Given the description of an element on the screen output the (x, y) to click on. 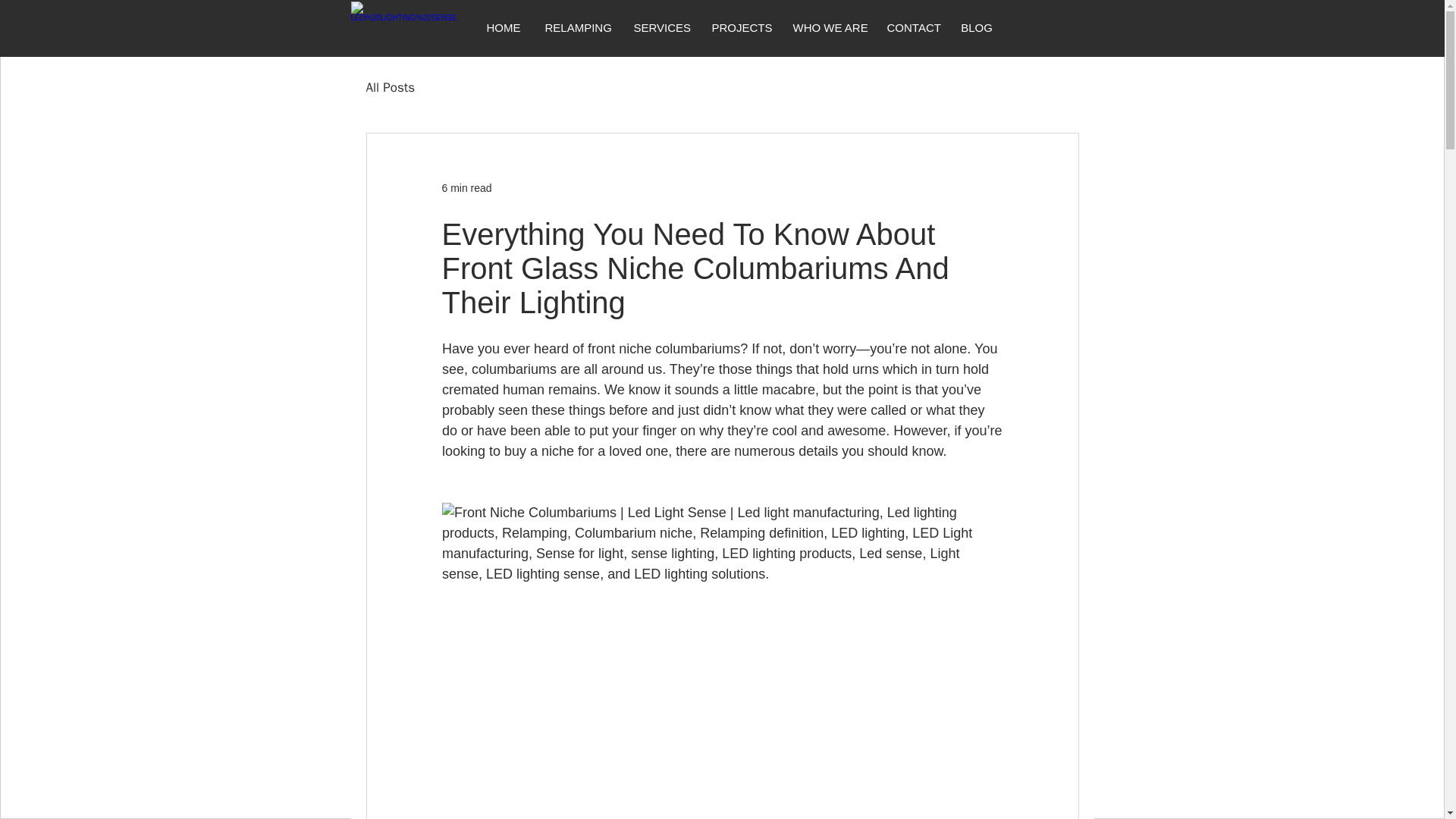
SERVICES (659, 27)
6 min read (466, 187)
RELAMPING (577, 27)
WHO WE ARE (827, 27)
All Posts (389, 87)
HOME (503, 27)
CONTACT (911, 27)
PROJECTS (740, 27)
BLOG (976, 27)
